Given the description of an element on the screen output the (x, y) to click on. 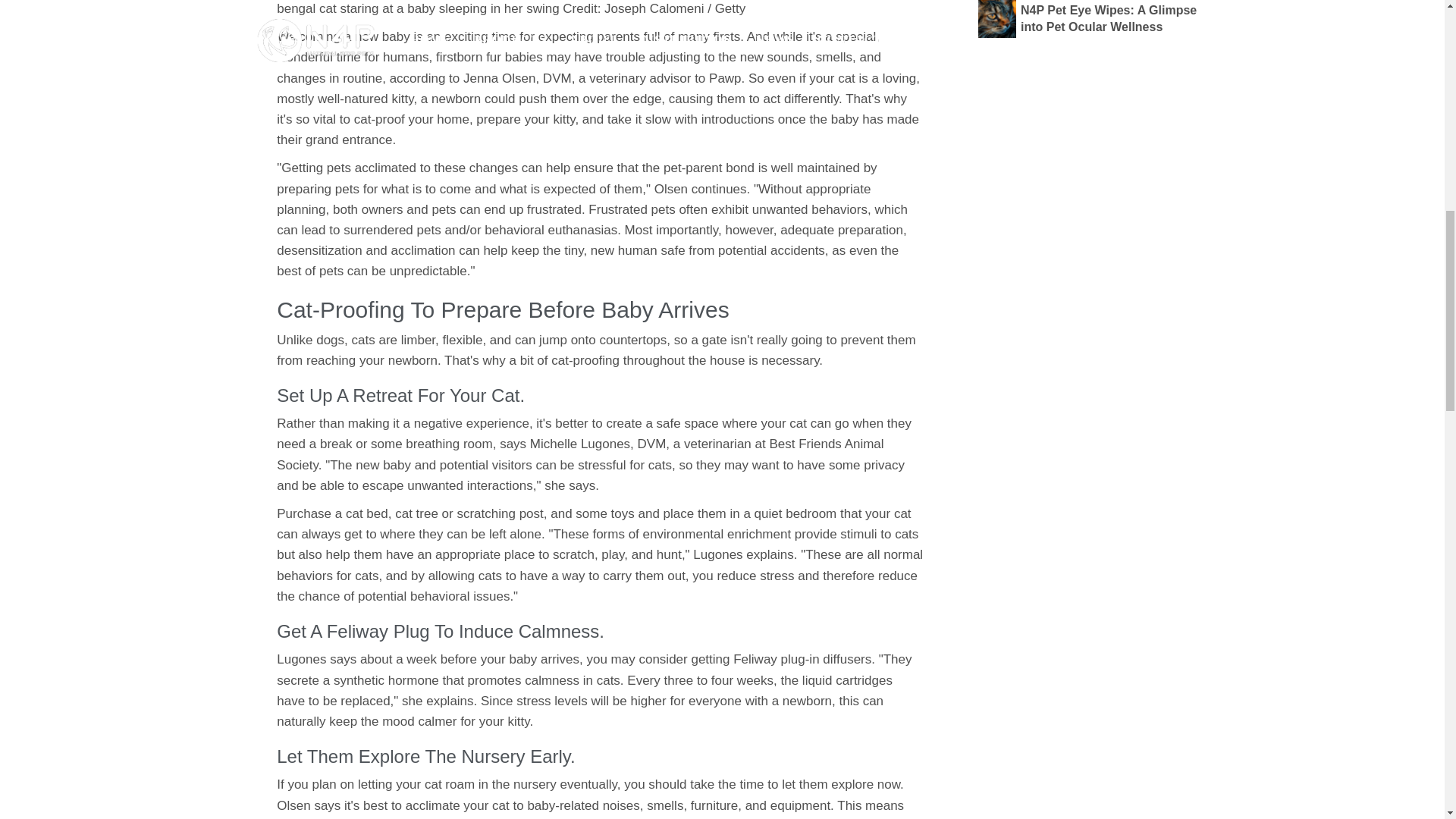
N4P Pet Eye Wipes: A Glimpse into Pet Ocular Wellness (1088, 18)
